Given the description of an element on the screen output the (x, y) to click on. 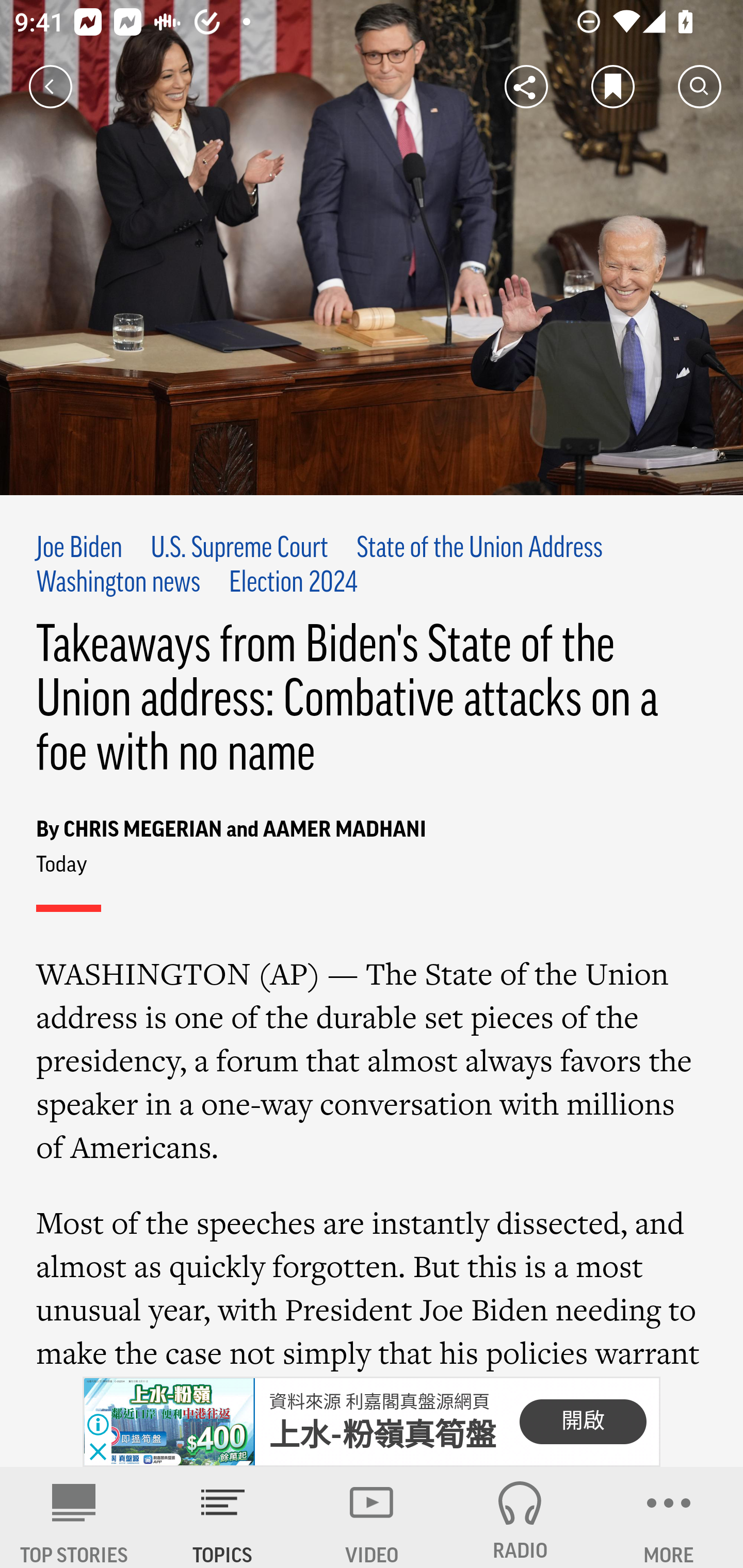
Joe Biden (79, 549)
U.S. Supreme Court (239, 549)
State of the Union Address (479, 549)
Washington news (119, 584)
Election 2024 (292, 584)
B30001746 (168, 1421)
資料來源 利嘉閣真盤源網頁 (379, 1400)
開啟 (582, 1421)
港島南區 真筍盤 (386, 1435)
AP News TOP STORIES (74, 1517)
TOPICS (222, 1517)
VIDEO (371, 1517)
RADIO (519, 1517)
MORE (668, 1517)
